Given the description of an element on the screen output the (x, y) to click on. 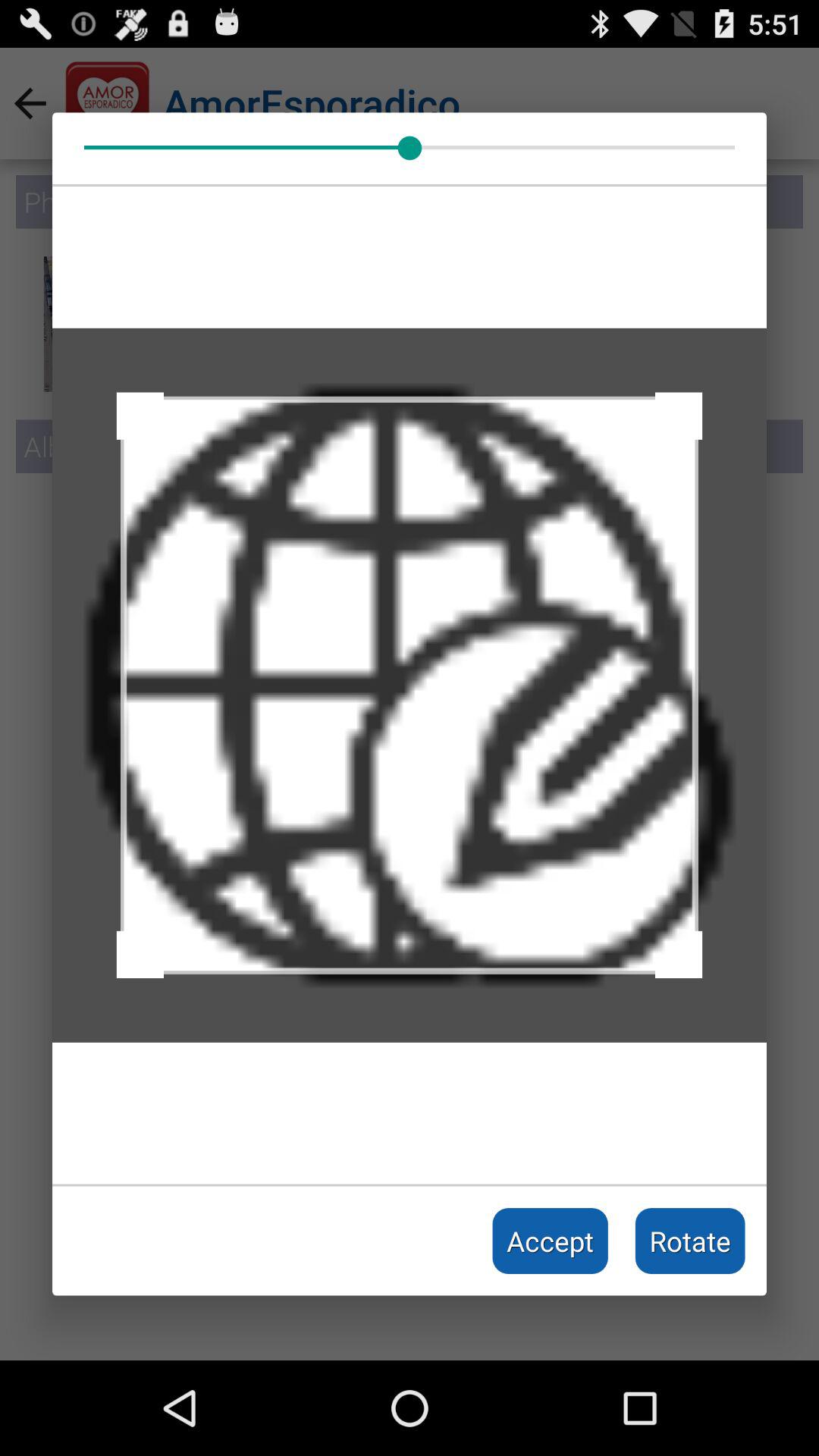
press the icon to the right of accept (689, 1240)
